Given the description of an element on the screen output the (x, y) to click on. 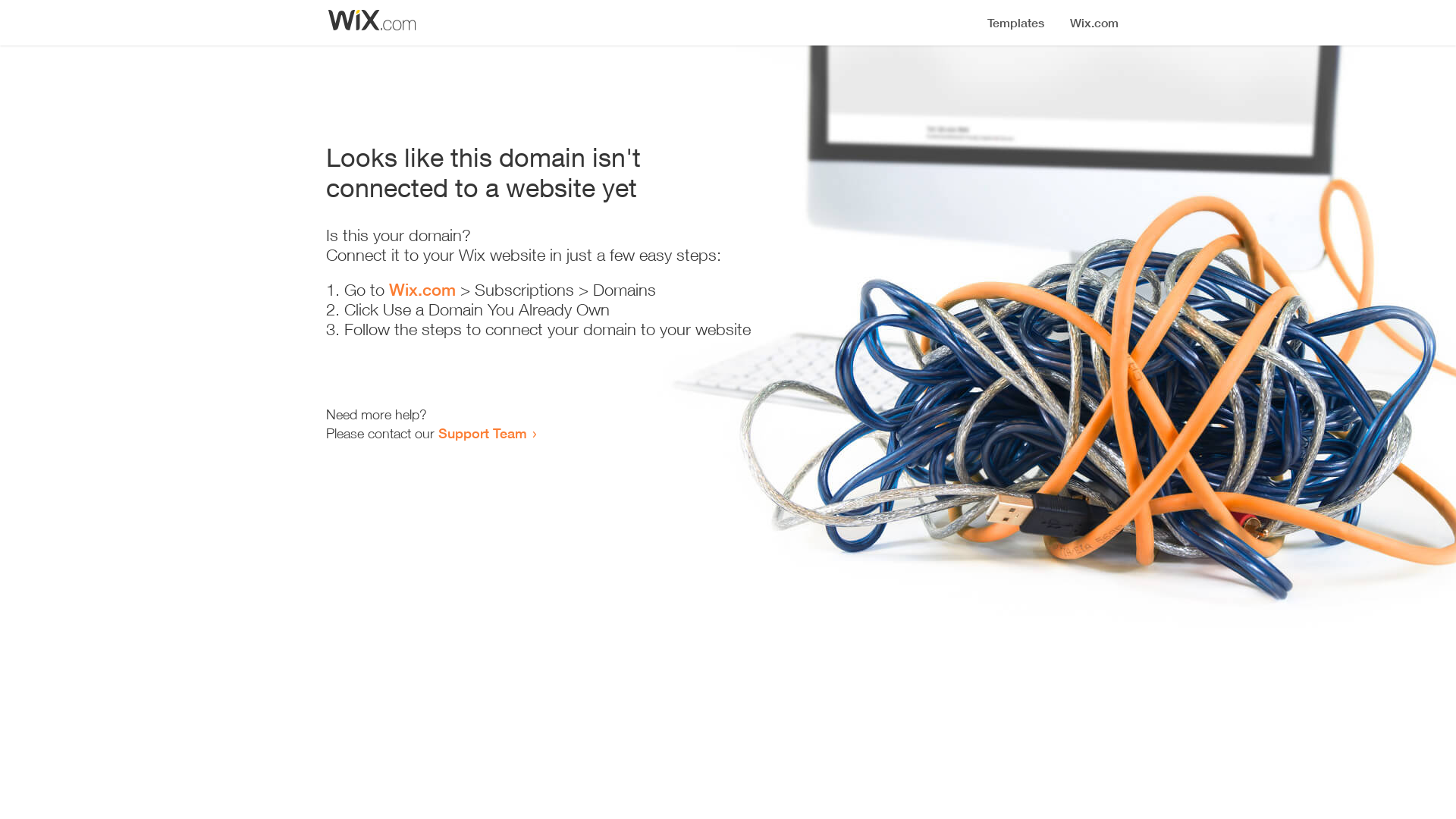
Wix.com Element type: text (422, 289)
Support Team Element type: text (482, 432)
